Given the description of an element on the screen output the (x, y) to click on. 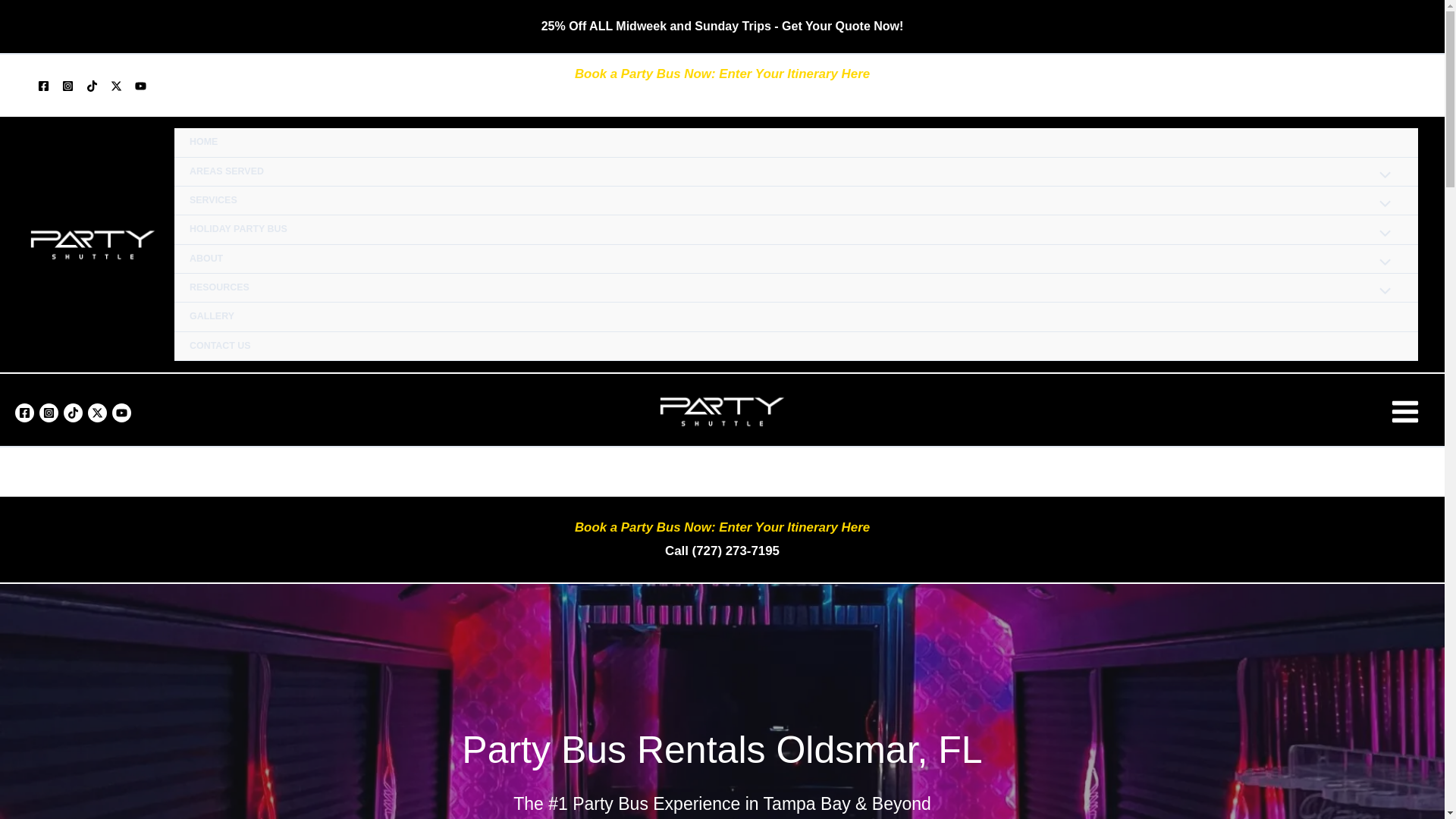
HOME (796, 142)
Menu Toggle (1381, 176)
SERVICES (796, 200)
HOLIDAY PARTY BUS (796, 229)
AREAS SERVED (796, 172)
Menu Toggle (1381, 205)
Menu Toggle (1381, 234)
Book a Party Bus Now: Enter Your Itinerary Here (722, 73)
